Given the description of an element on the screen output the (x, y) to click on. 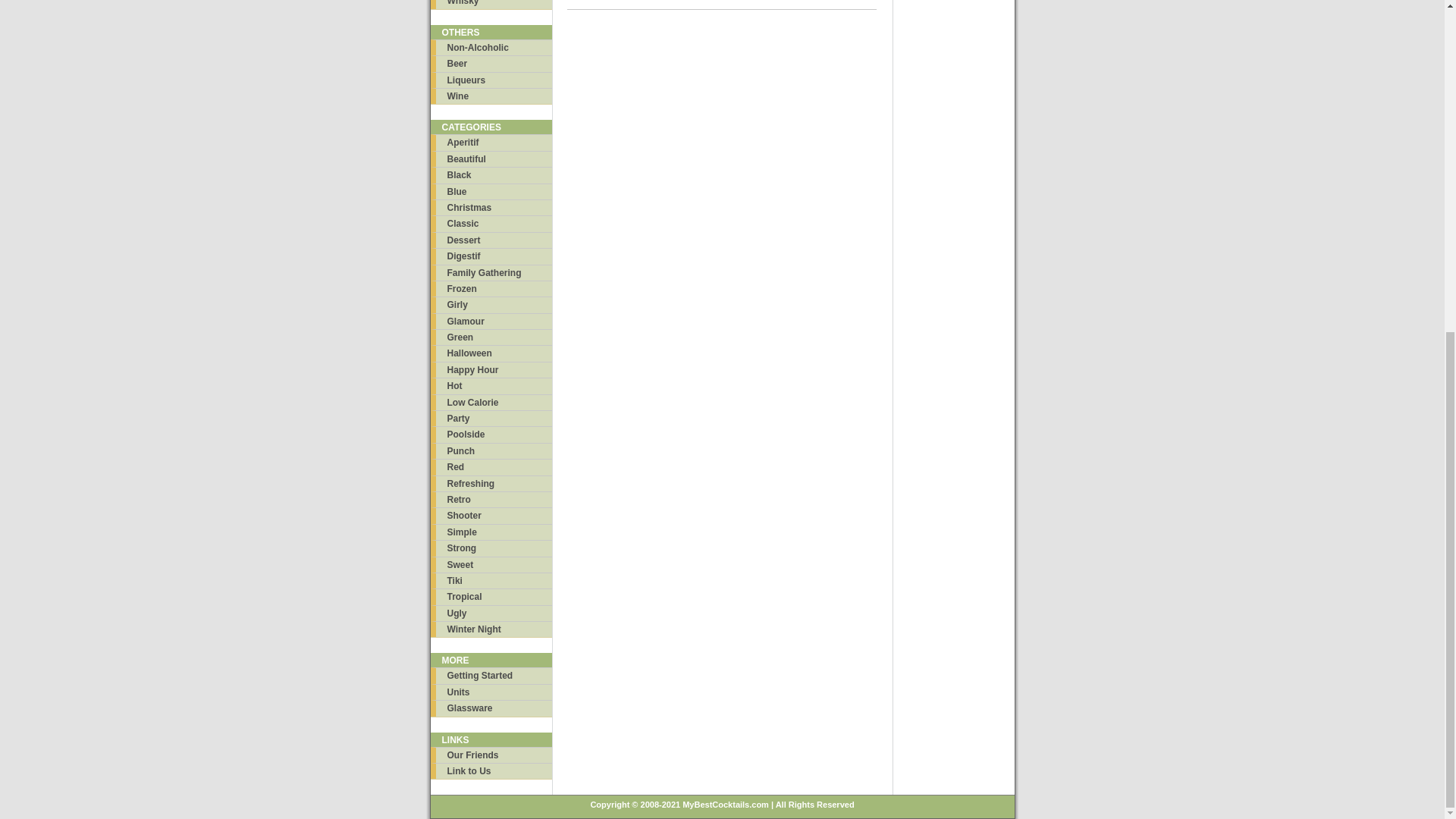
Christmas (490, 207)
Aperitif (490, 141)
Whisky (490, 4)
Liqueurs (490, 79)
Beautiful (490, 158)
Beer (490, 63)
Black (490, 174)
Blue (490, 191)
Wine (490, 95)
Non-Alcoholic (490, 47)
